Given the description of an element on the screen output the (x, y) to click on. 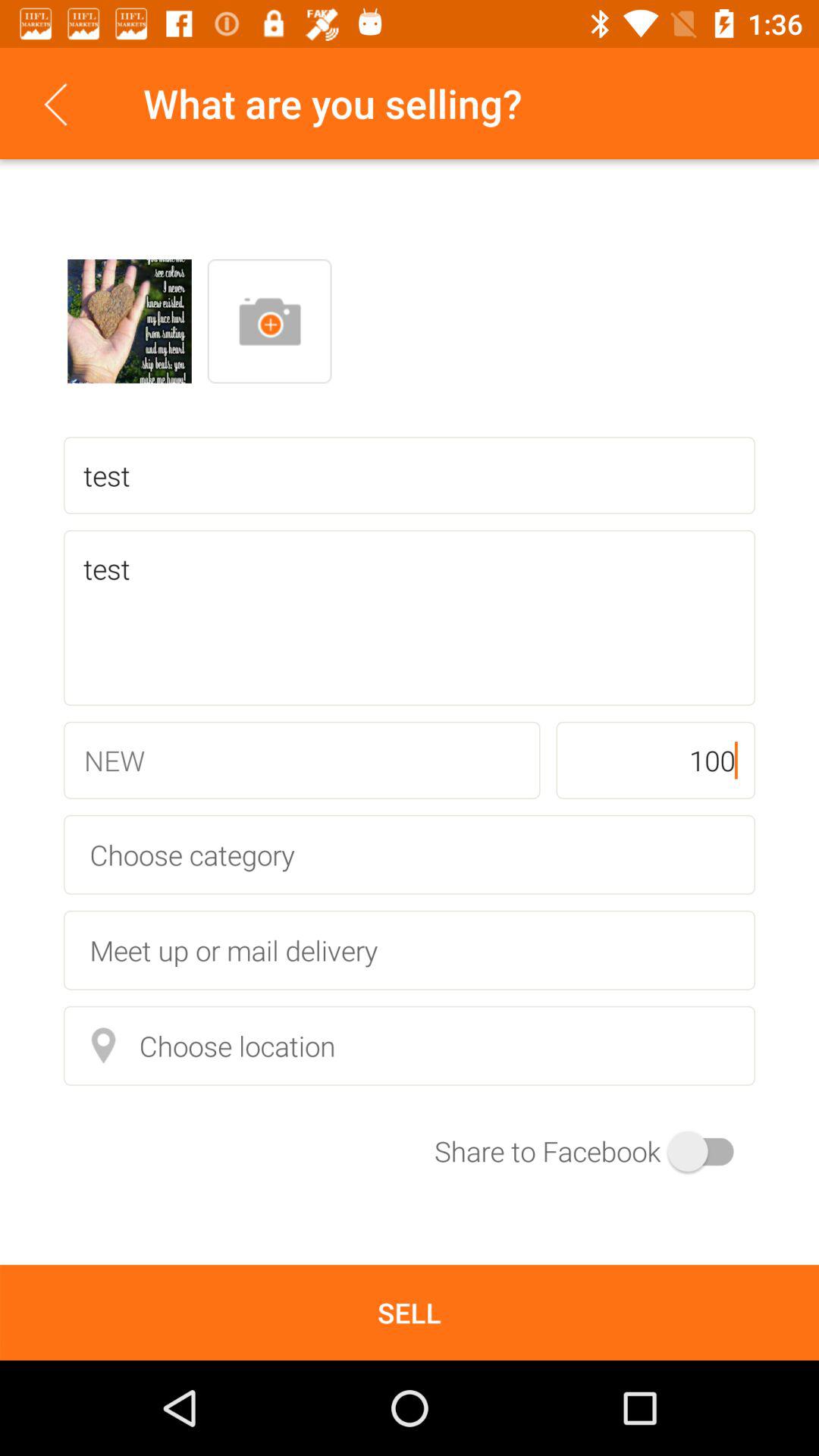
tap icon above the share to facebook icon (409, 1045)
